Given the description of an element on the screen output the (x, y) to click on. 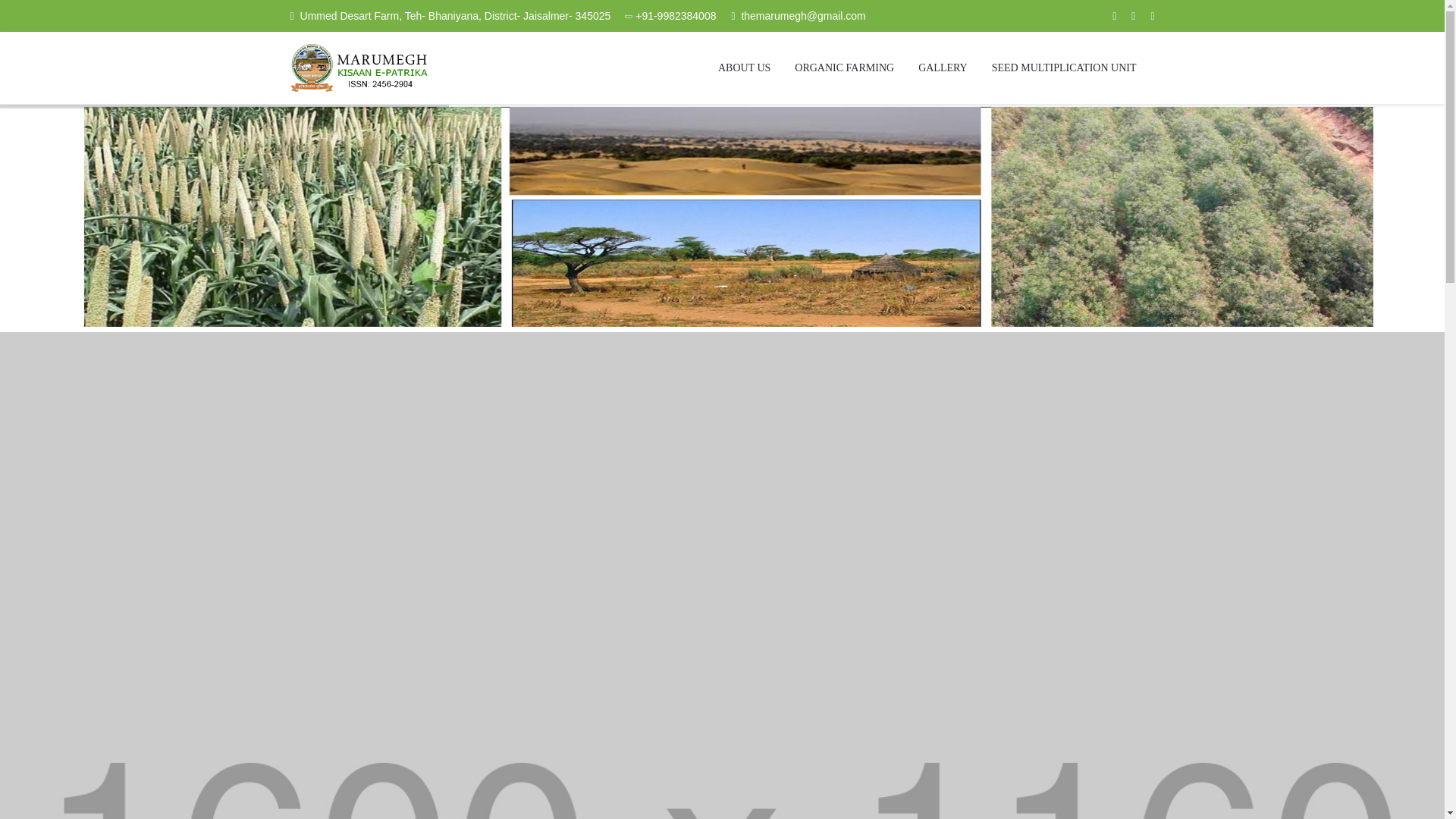
SEED MULTIPLICATION UNIT (1063, 68)
ABOUT US (744, 68)
About Us (744, 68)
Gallery (942, 68)
GALLERY (942, 68)
ORGANIC FARMING (844, 68)
Organic Farming (844, 68)
Seed Multiplication Unit (1063, 68)
